Given the description of an element on the screen output the (x, y) to click on. 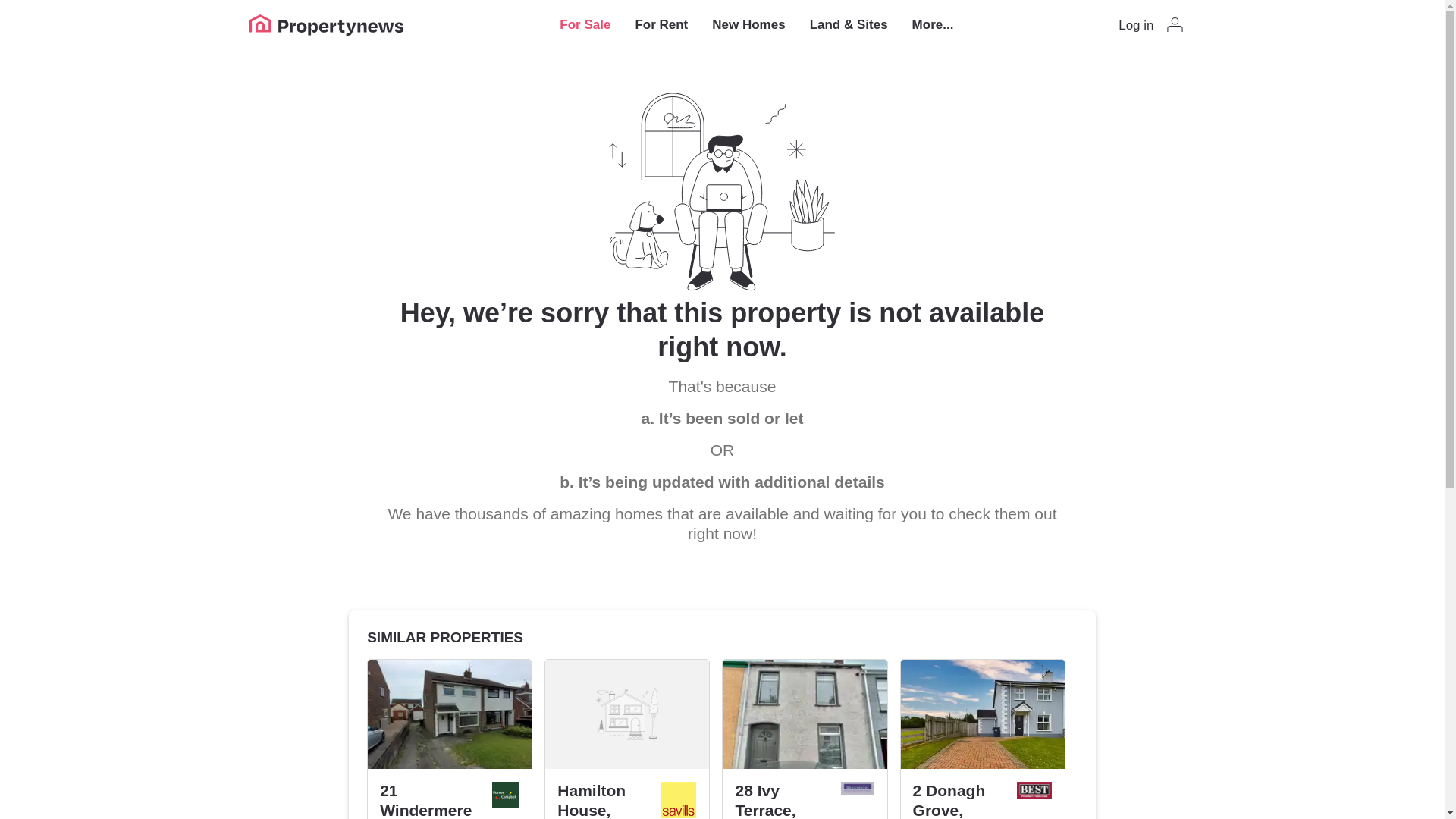
Hamilton House, Catherine Street, BT30 9QQ (601, 800)
For Rent (660, 24)
New Homes (747, 24)
21 Windermere Avenue, Carrickfergus, BT38 7JS (429, 800)
2 Donagh Grove, Warrenpoint, Newry, BT34 3UH (958, 800)
Access your members area (1150, 24)
Log in (1150, 24)
For Sale (584, 24)
Go back to the homepage (327, 24)
28 Ivy Terrace, Derry, Londonderry, BT48 6TD (781, 800)
